Given the description of an element on the screen output the (x, y) to click on. 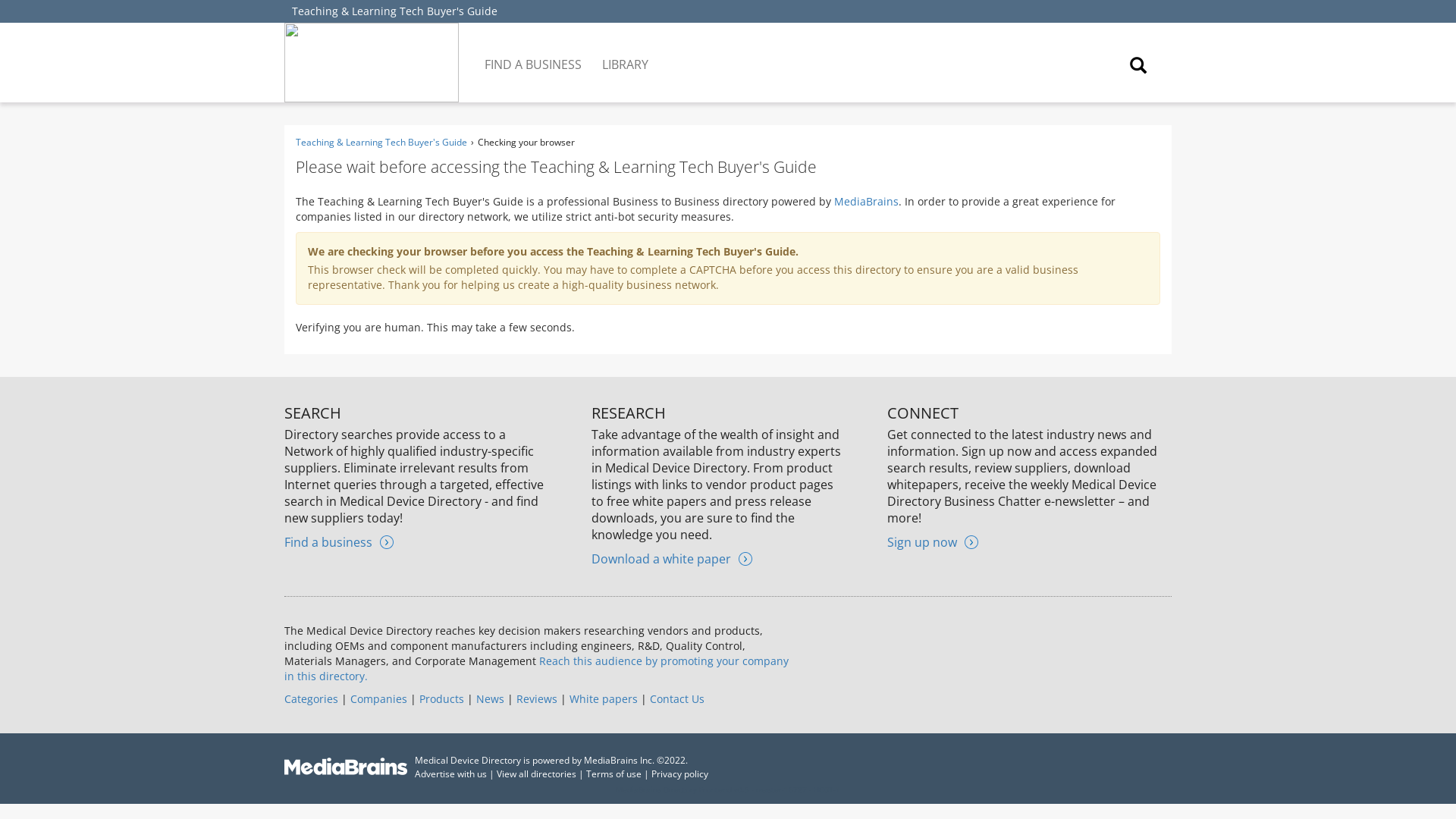
Sign up now (932, 541)
Terms of use (614, 773)
Download a white paper (671, 558)
Find a business (338, 541)
LIBRARY (626, 52)
White papers (603, 698)
MediaBrains (866, 201)
Contact Us (676, 698)
Advertise with us (450, 773)
News (489, 698)
View all directories (536, 773)
Companies (378, 698)
Privacy policy (678, 773)
Reviews (536, 698)
